Given the description of an element on the screen output the (x, y) to click on. 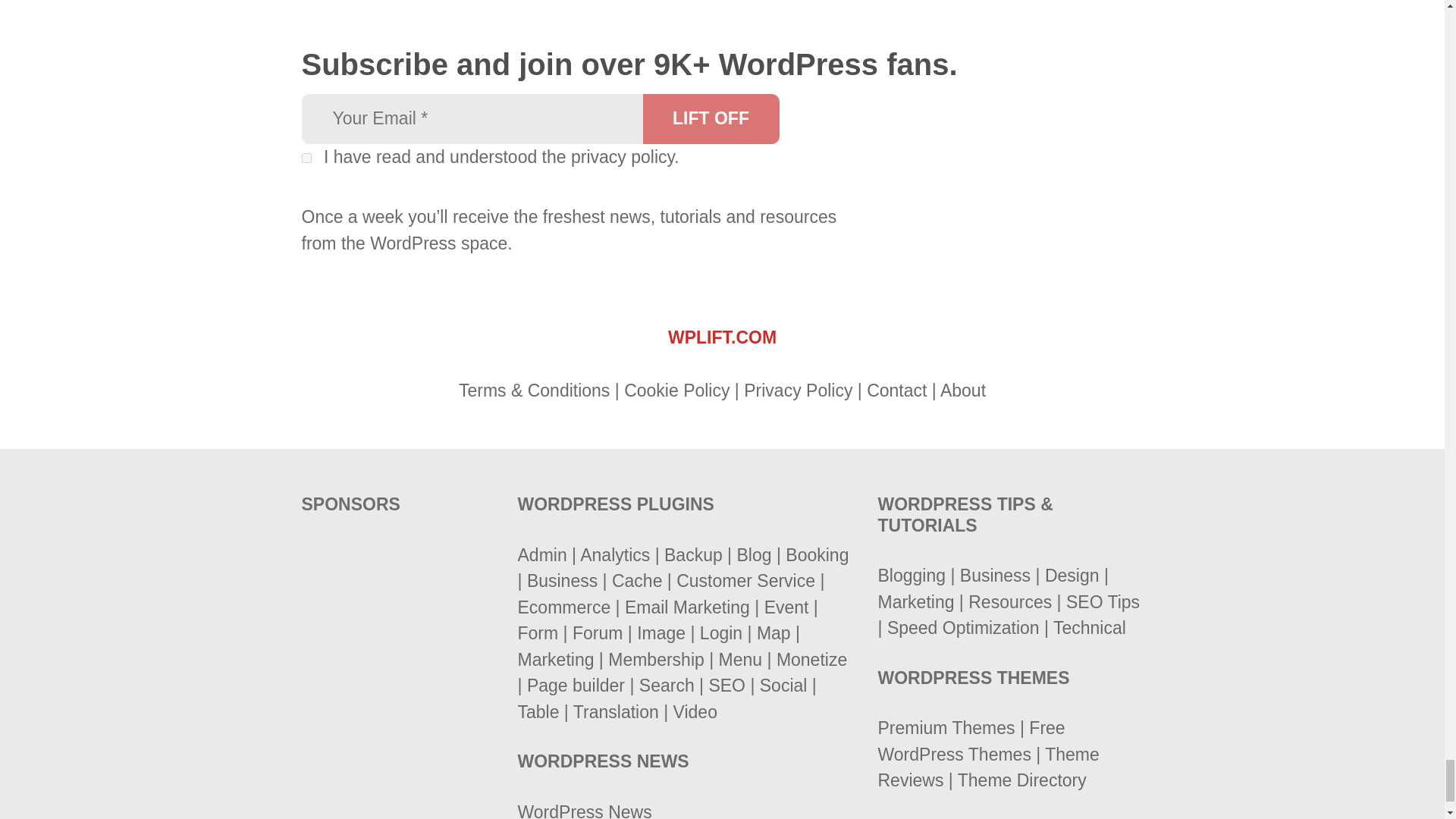
Lift OFF (710, 119)
on (306, 157)
